Given the description of an element on the screen output the (x, y) to click on. 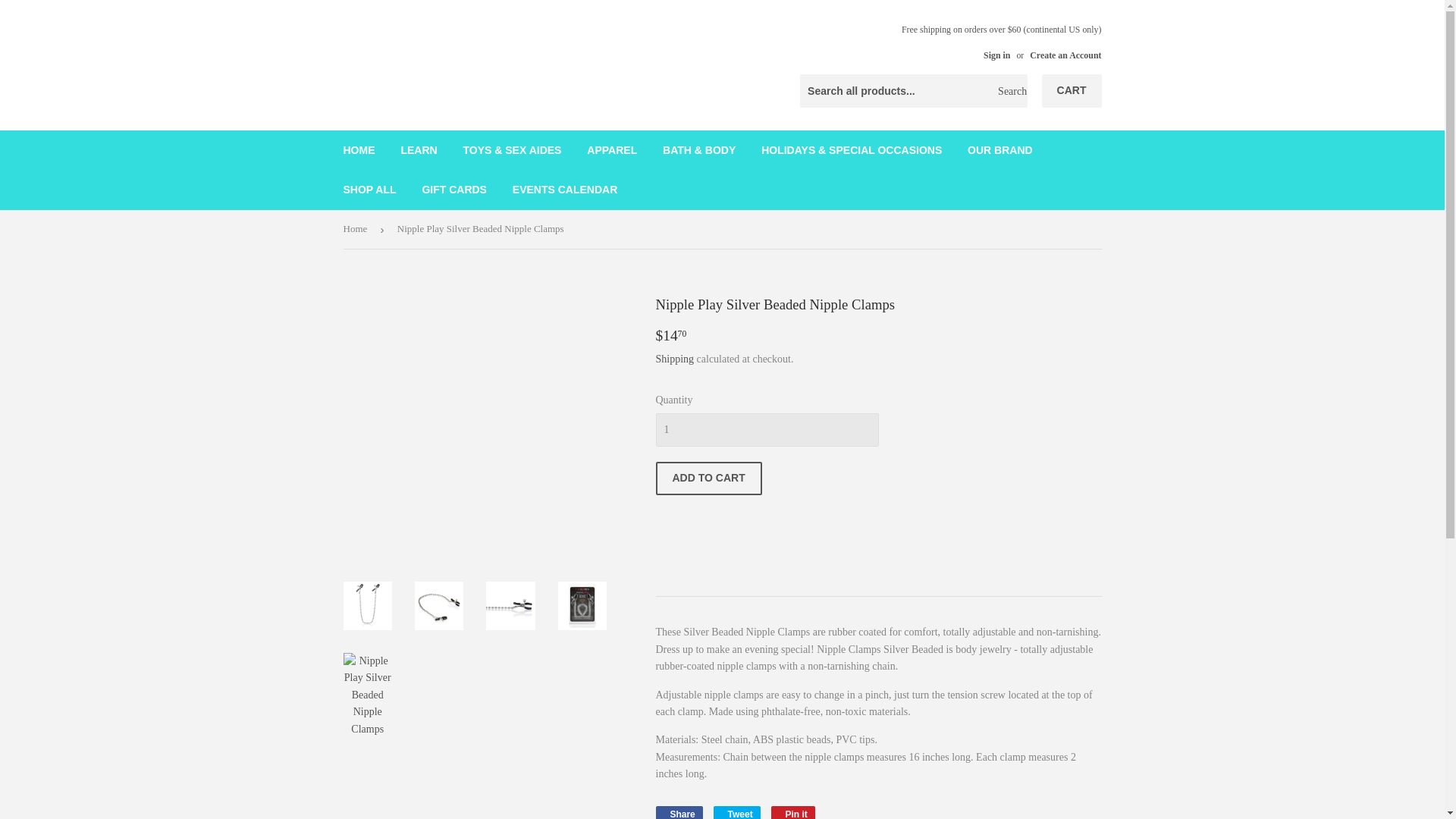
Share on Facebook (678, 812)
Search (1009, 91)
Create an Account (1064, 54)
CART (1072, 90)
Tweet on Twitter (736, 812)
1 (766, 429)
Sign in (997, 54)
Pin on Pinterest (793, 812)
